Given the description of an element on the screen output the (x, y) to click on. 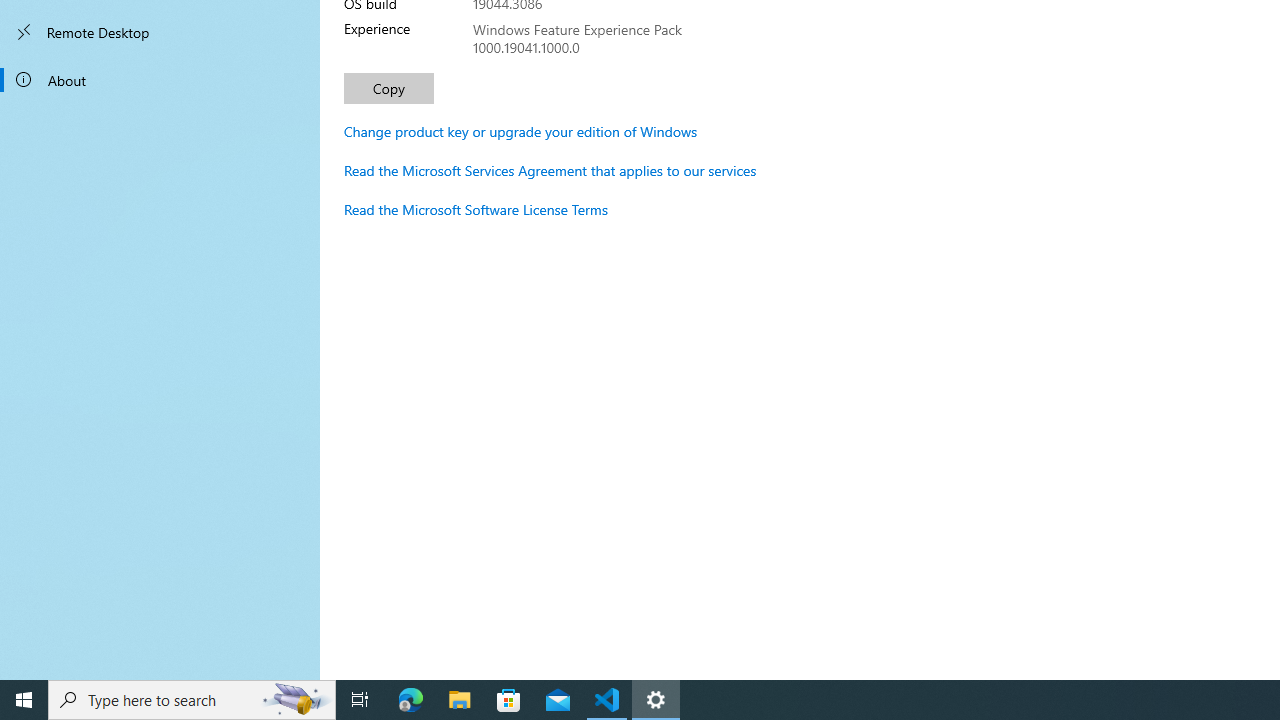
Change product key or upgrade your edition of Windows (520, 131)
Read the Microsoft Software License Terms (476, 209)
Copy (388, 87)
About (160, 79)
Remote Desktop (160, 31)
